Given the description of an element on the screen output the (x, y) to click on. 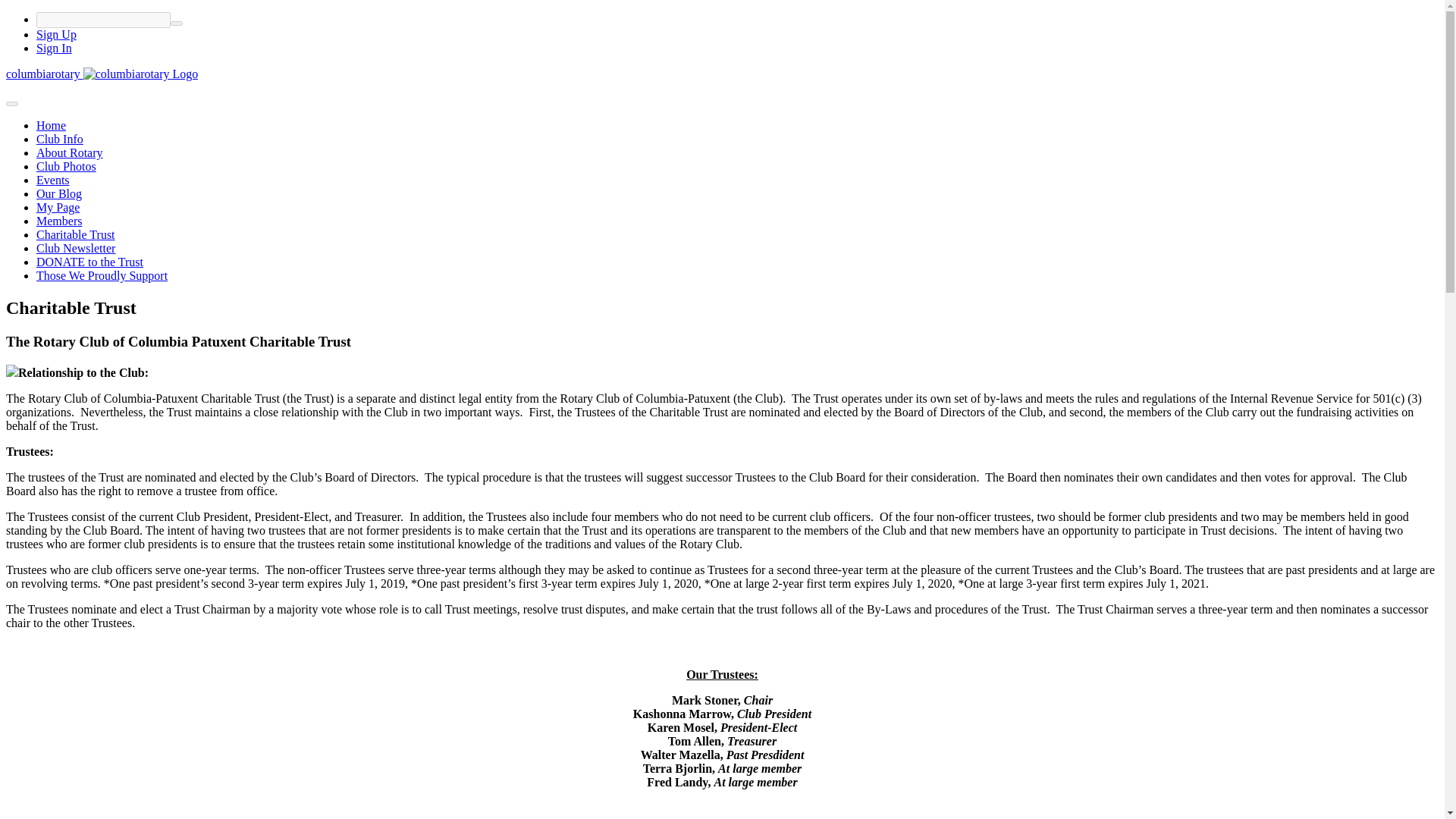
DONATE to the Trust (89, 261)
columbiarotary (43, 73)
Home (50, 124)
Events (52, 179)
Club Info (59, 138)
Club Photos (66, 165)
Club Newsletter (75, 247)
Members (58, 220)
Sign Up (56, 33)
Our Blog (58, 193)
